Given the description of an element on the screen output the (x, y) to click on. 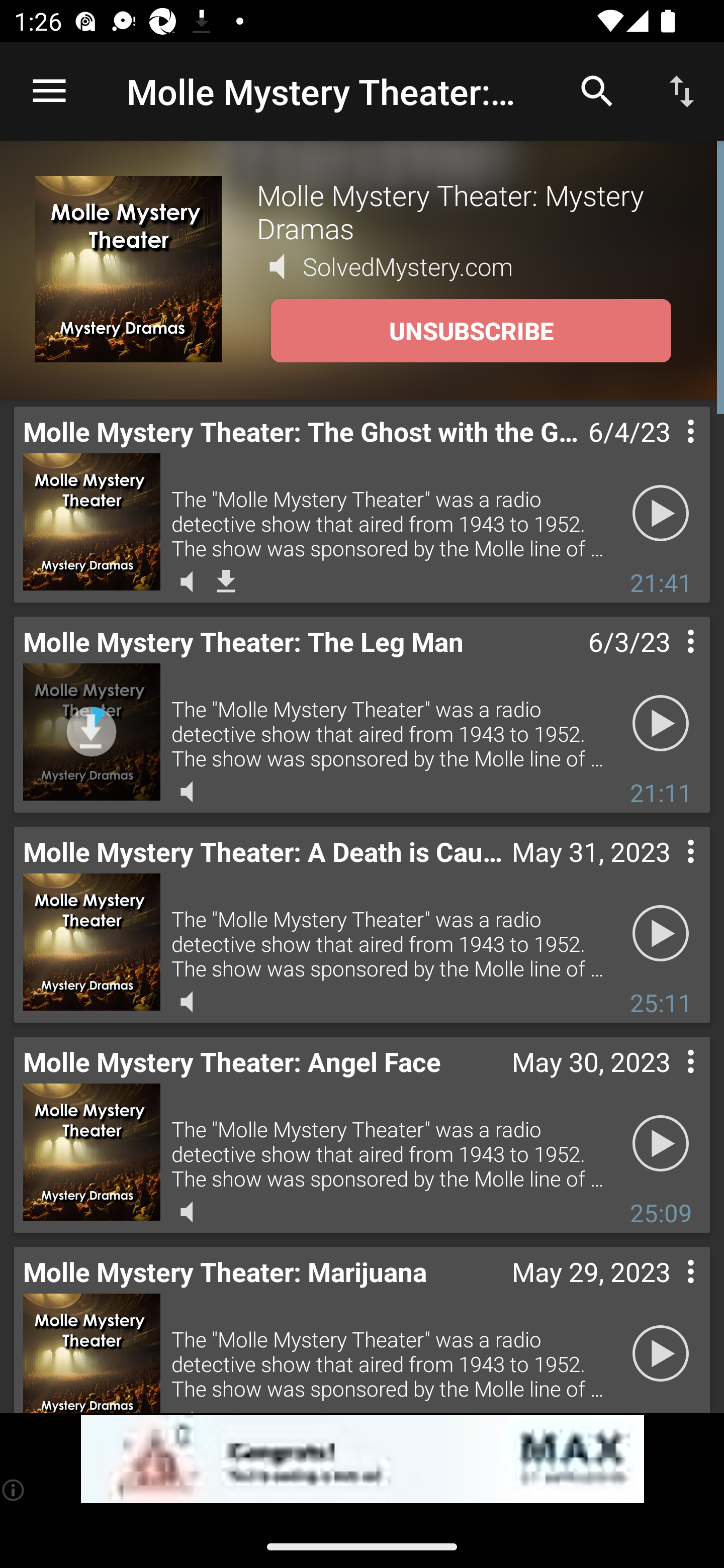
Open navigation sidebar (49, 91)
Search (597, 90)
Sort (681, 90)
UNSUBSCRIBE (470, 330)
Contextual menu (668, 451)
Play (660, 513)
Contextual menu (668, 661)
Play (660, 723)
Contextual menu (668, 870)
Play (660, 933)
Contextual menu (668, 1080)
Play (660, 1143)
Contextual menu (668, 1290)
Play (660, 1353)
app-monetization (362, 1459)
(i) (14, 1489)
